Given the description of an element on the screen output the (x, y) to click on. 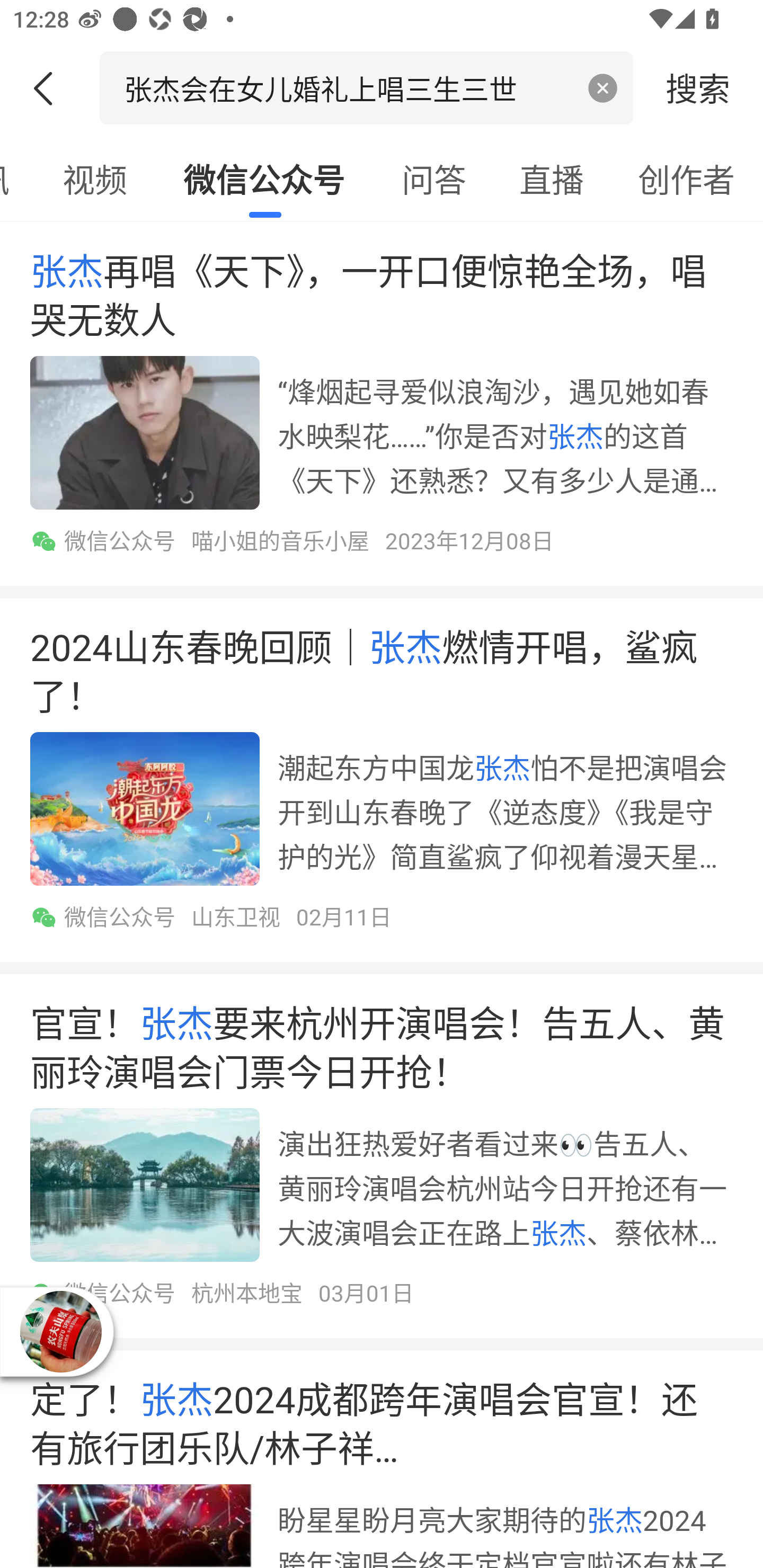
返回 (49, 87)
搜索 (698, 87)
张杰会在女儿婚礼上唱三生三世 (347, 87)
清空 (602, 88)
视频，可选中 (94, 179)
已选中微信公众号 (264, 179)
问答，可选中 (433, 179)
直播，可选中 (551, 179)
创作者，可选中 (686, 179)
播放器 (60, 1331)
